Given the description of an element on the screen output the (x, y) to click on. 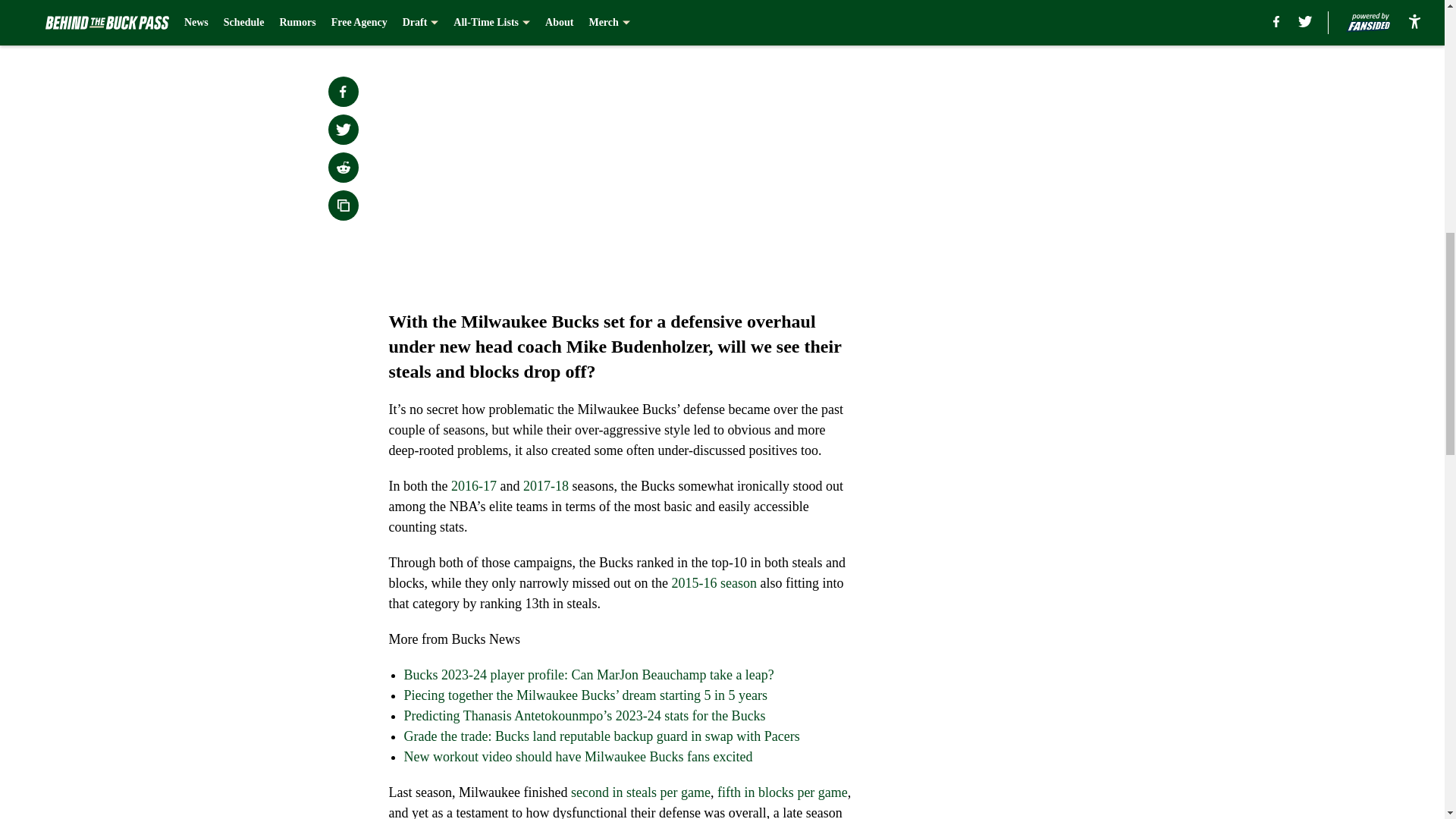
fifth in blocks per game (782, 792)
2017-18 (545, 485)
2016-17 (473, 485)
New workout video should have Milwaukee Bucks fans excited (577, 756)
second in steals per game (640, 792)
2015-16 season (713, 582)
